Given the description of an element on the screen output the (x, y) to click on. 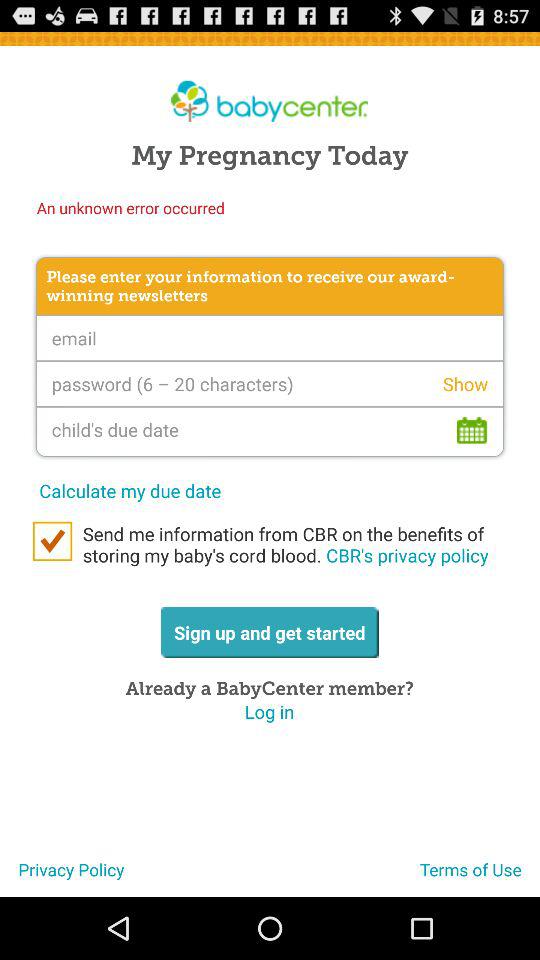
select babys due date (270, 431)
